Given the description of an element on the screen output the (x, y) to click on. 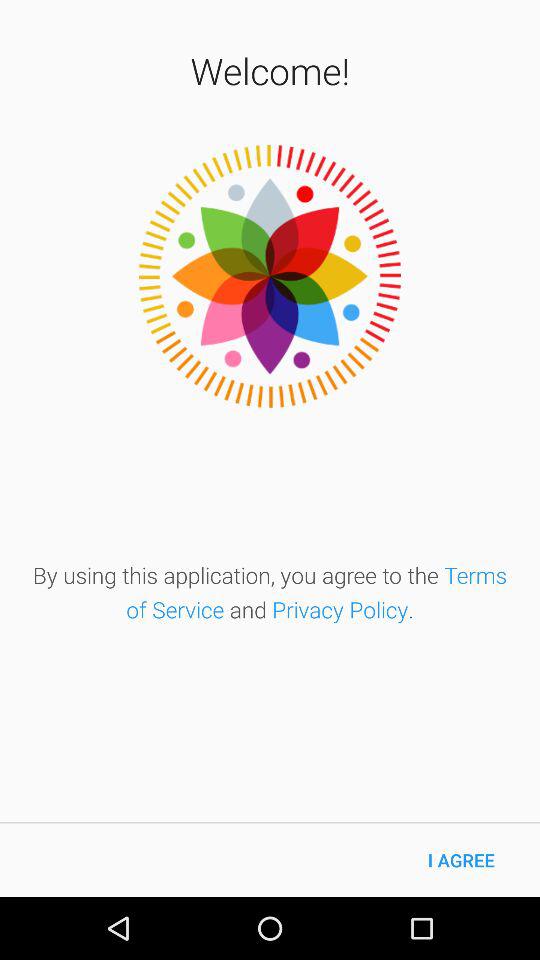
select the by using this (270, 592)
